Given the description of an element on the screen output the (x, y) to click on. 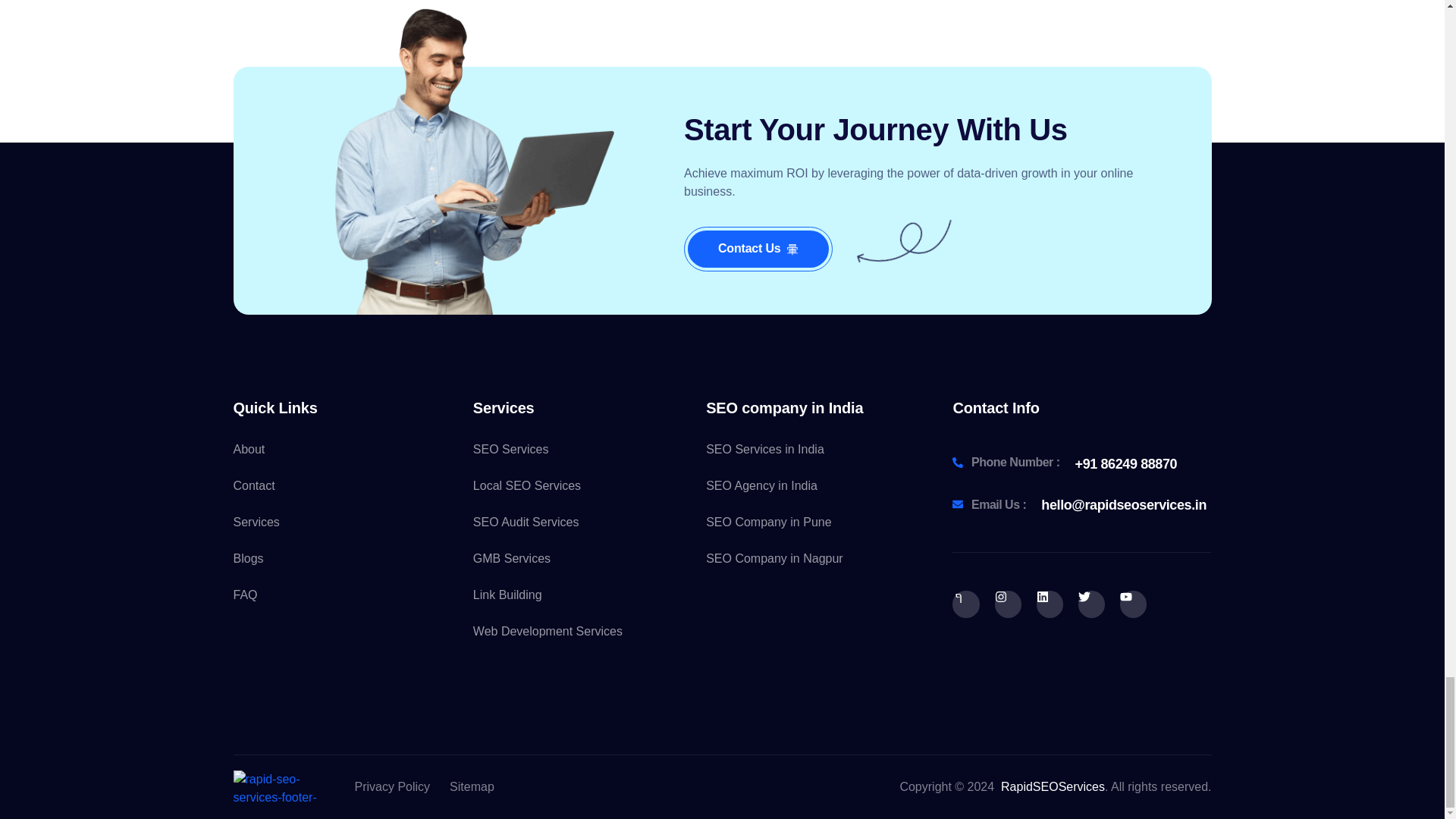
Privacy Policy (392, 787)
SEO Company in Nagpur (814, 558)
SEO Services (581, 449)
Sitemap (472, 787)
Contact Us (757, 248)
GMB Services (581, 558)
Local SEO Services (581, 485)
SEO Agency in India (814, 485)
Contact (348, 485)
SEO Services in India (814, 449)
